Given the description of an element on the screen output the (x, y) to click on. 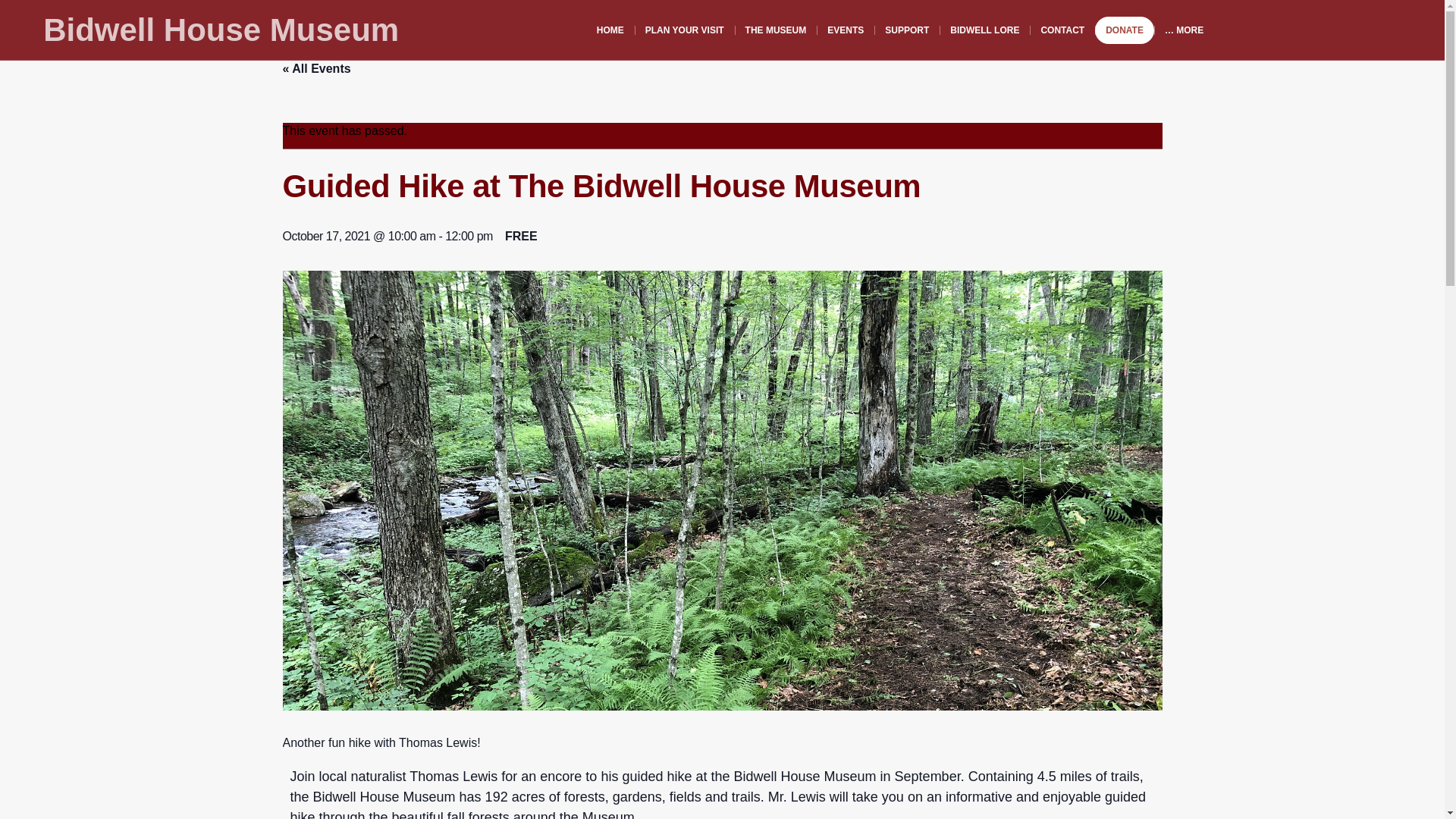
PLAN YOUR VISIT (684, 29)
SUPPORT (907, 29)
BIDWELL LORE (984, 29)
Bidwell House Museum (220, 29)
CONTACT (1061, 29)
THE MUSEUM (775, 29)
EVENTS (845, 29)
Bidwell House Museum (220, 29)
DONATE (1124, 29)
